Given the description of an element on the screen output the (x, y) to click on. 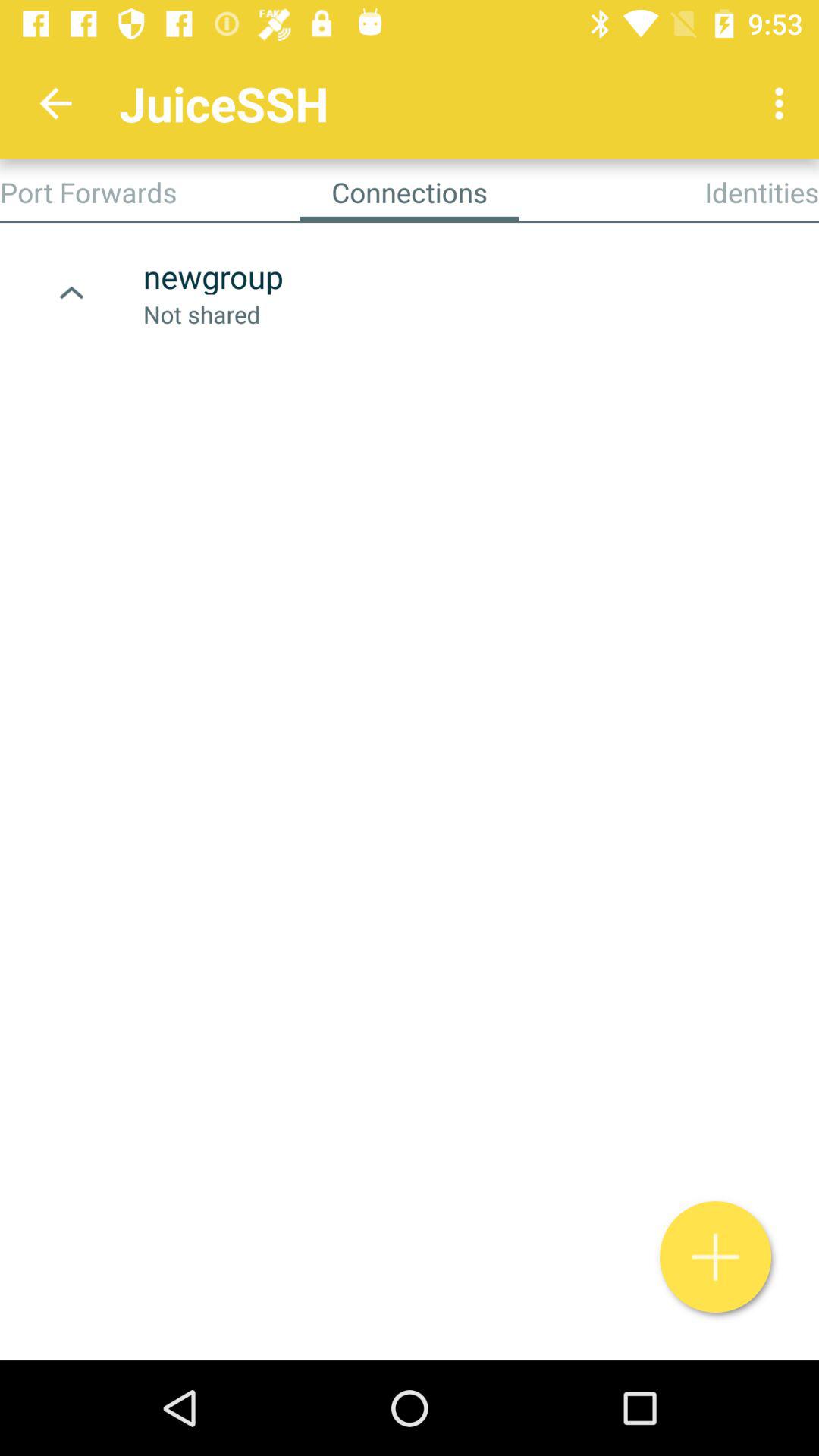
click the icon below the identities (715, 1256)
